Given the description of an element on the screen output the (x, y) to click on. 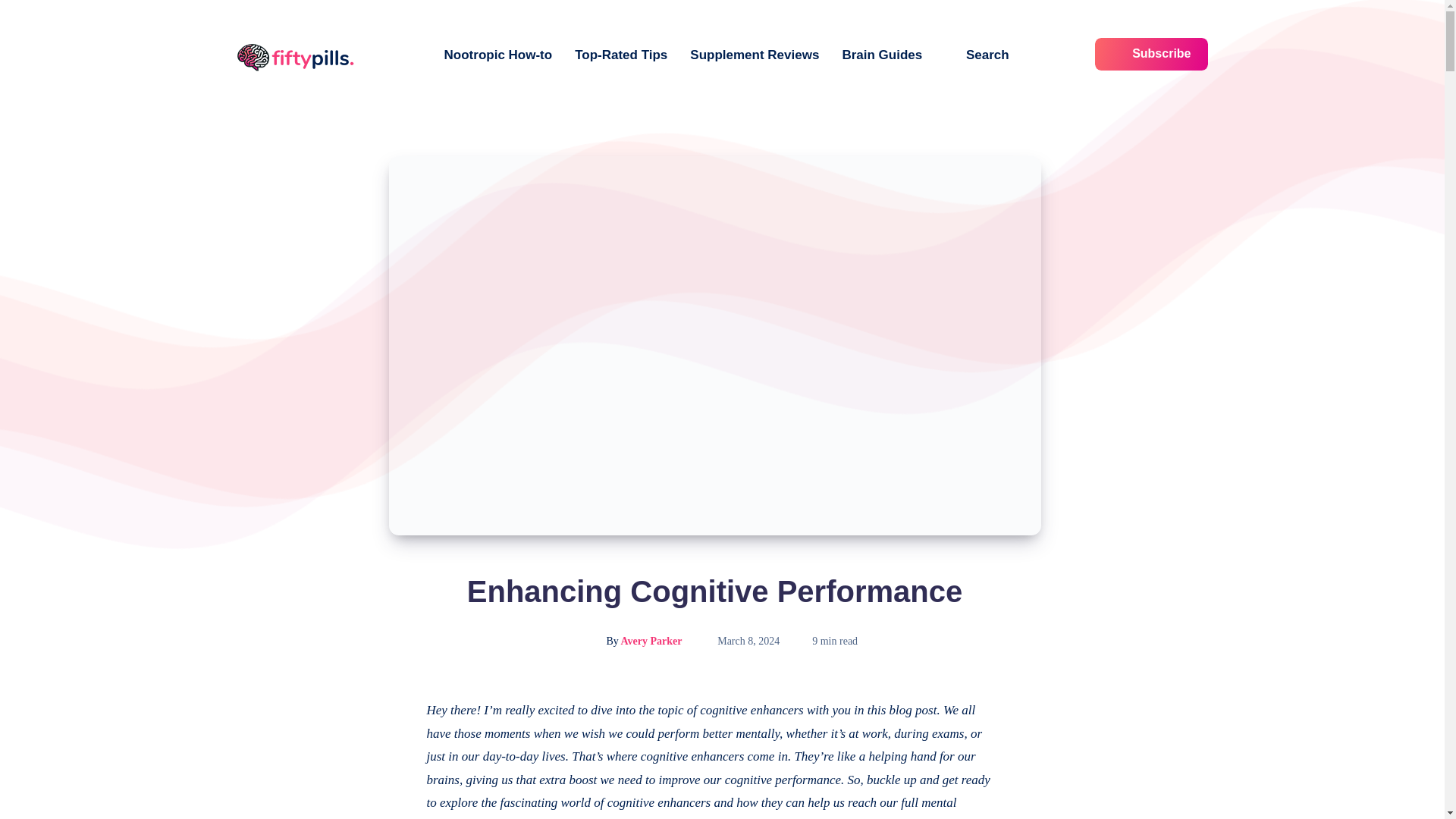
Share on Telegram (388, 808)
Top-Rated Tips (620, 54)
Share on Twitter (388, 744)
Supplement Reviews (754, 54)
Share on Facebook (388, 710)
Nootropic How-to (498, 54)
Share on Pinterest (388, 778)
Subscribe (1151, 53)
Search (976, 54)
Brain Guides (881, 54)
